Given the description of an element on the screen output the (x, y) to click on. 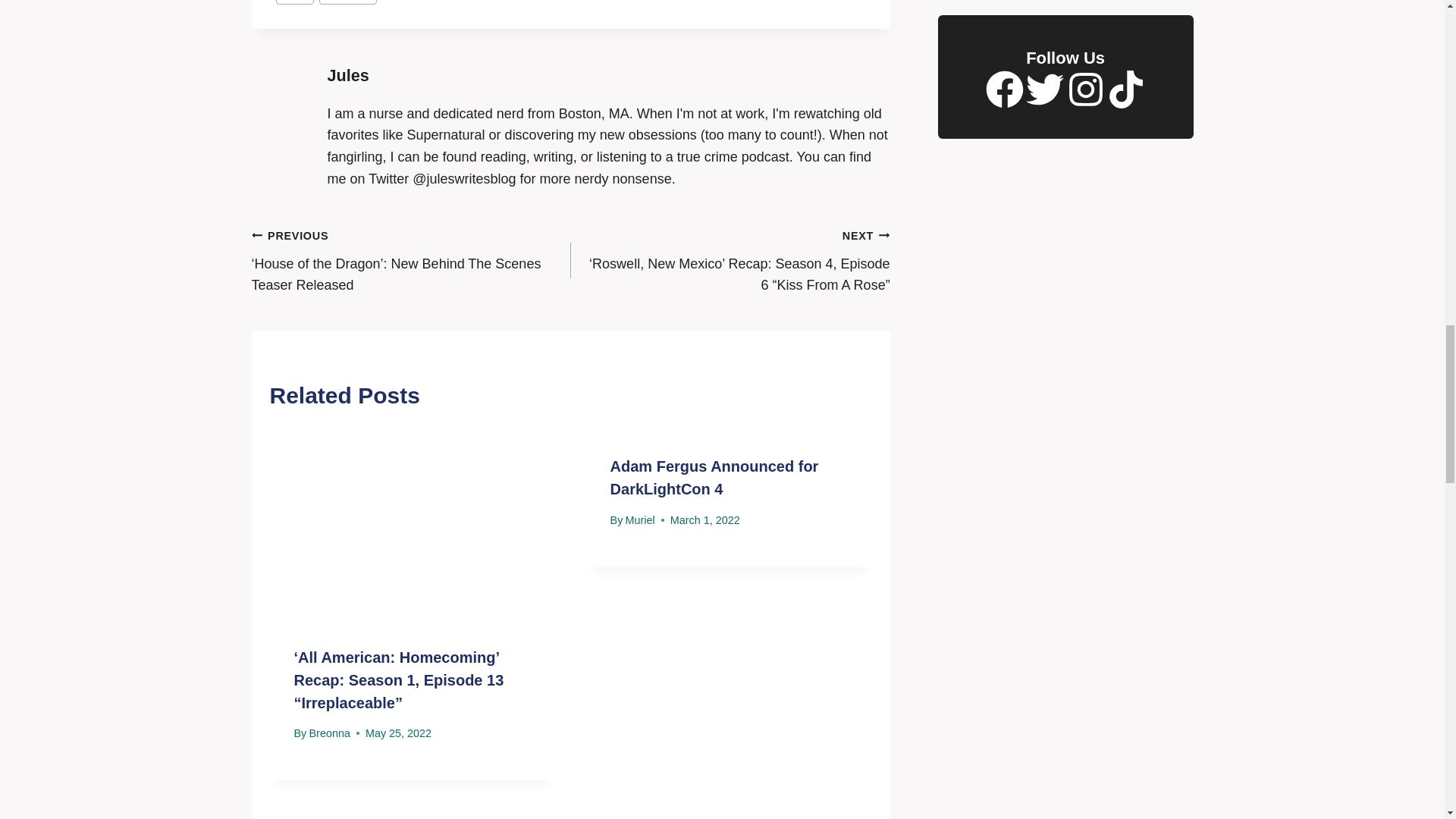
abc (295, 2)
Big Sky (347, 2)
Posts by Jules (348, 75)
